Given the description of an element on the screen output the (x, y) to click on. 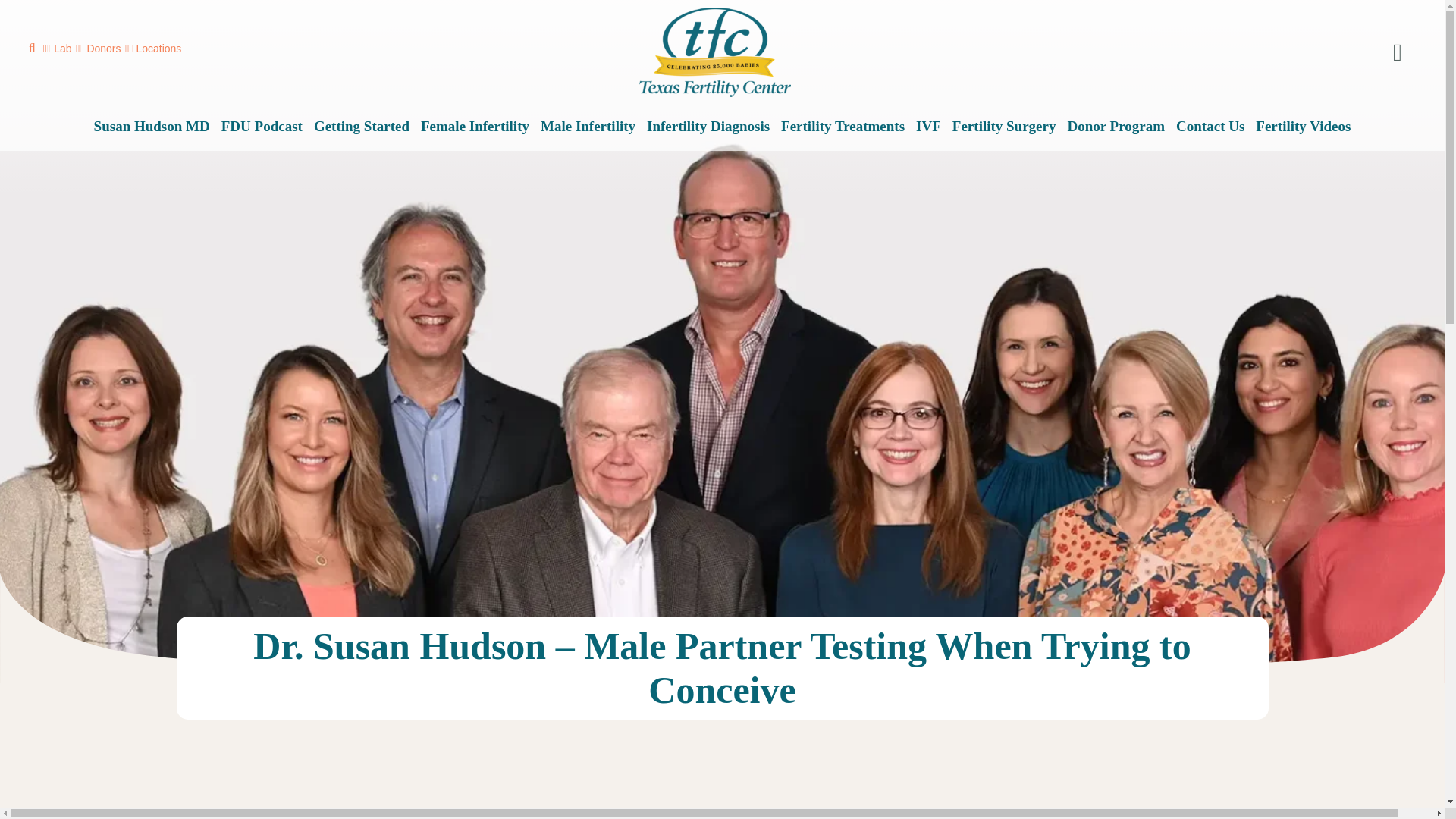
Female Infertility (474, 127)
Fertility Surgery (1004, 127)
Infertility Diagnosis (708, 127)
Male Infertility (587, 127)
Lab (57, 48)
Donor Program (1115, 127)
Getting Started (361, 127)
FDU Podcast (261, 127)
Locations (152, 48)
Contact Us (1210, 127)
Fertility Treatments (842, 127)
Susan Hudson MD (151, 127)
Fertility Videos (1303, 127)
Donors (97, 48)
